Given the description of an element on the screen output the (x, y) to click on. 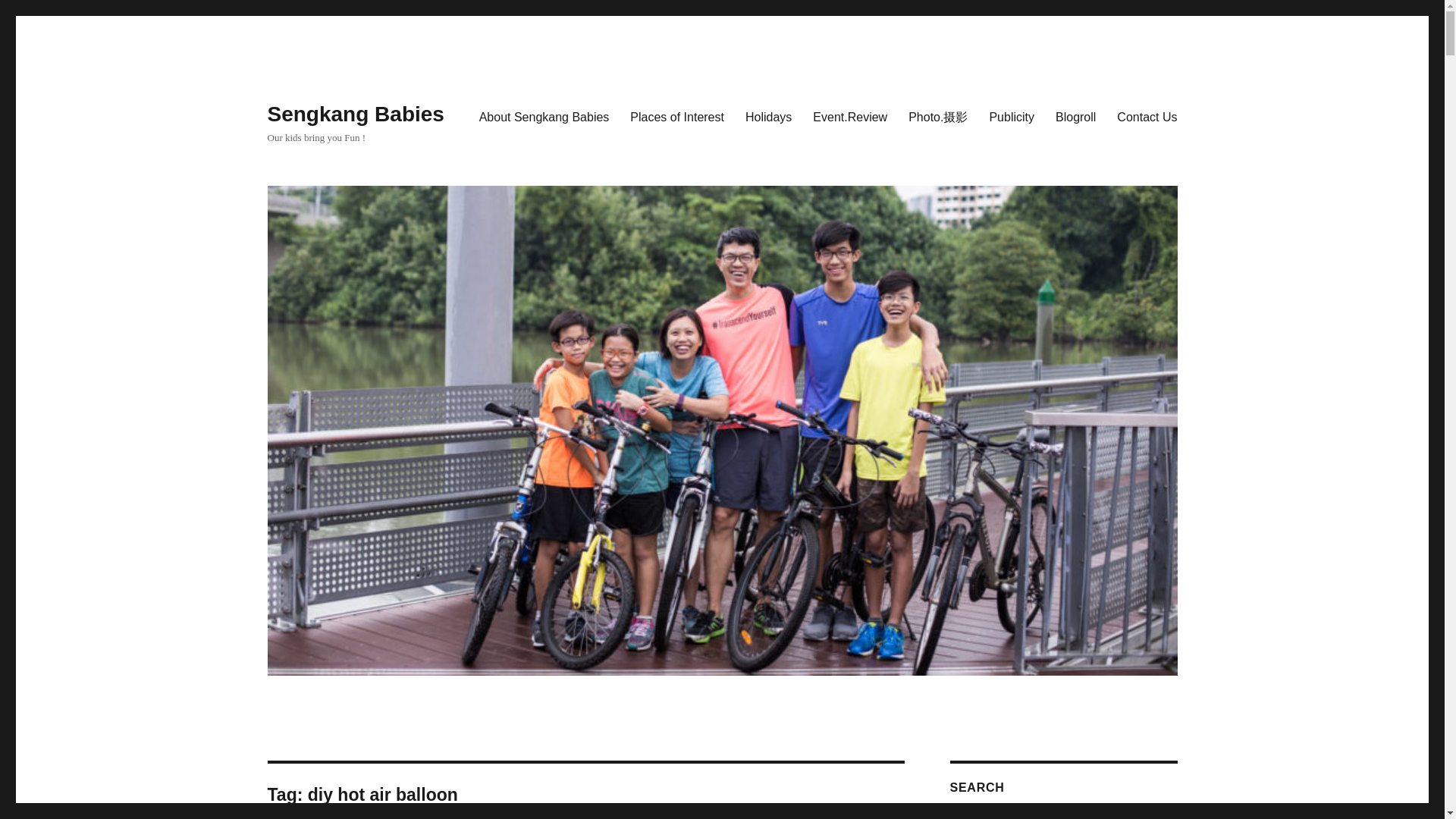
Holidays (768, 116)
Blogroll (1075, 116)
Publicity (1011, 116)
About Sengkang Babies (544, 116)
Event.Review (850, 116)
Sengkang Babies (355, 114)
Contact Us (1147, 116)
Places of Interest (677, 116)
